Given the description of an element on the screen output the (x, y) to click on. 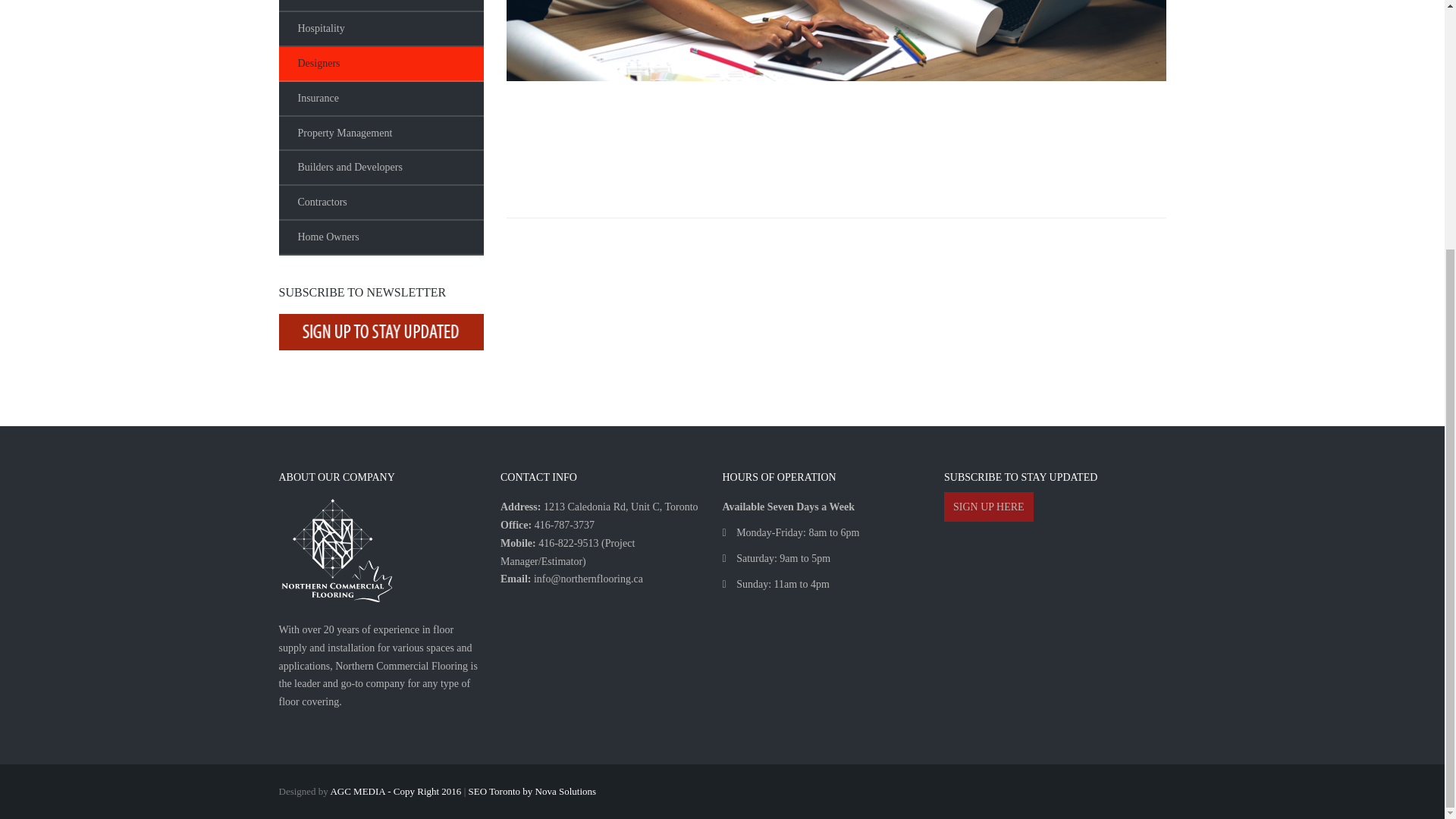
Home Owners (381, 237)
Builders and Developers (381, 167)
Designers (381, 63)
Contractors (381, 202)
Insurance (381, 99)
Hospitality (381, 29)
Property Management (381, 134)
Commercial (381, 6)
